Given the description of an element on the screen output the (x, y) to click on. 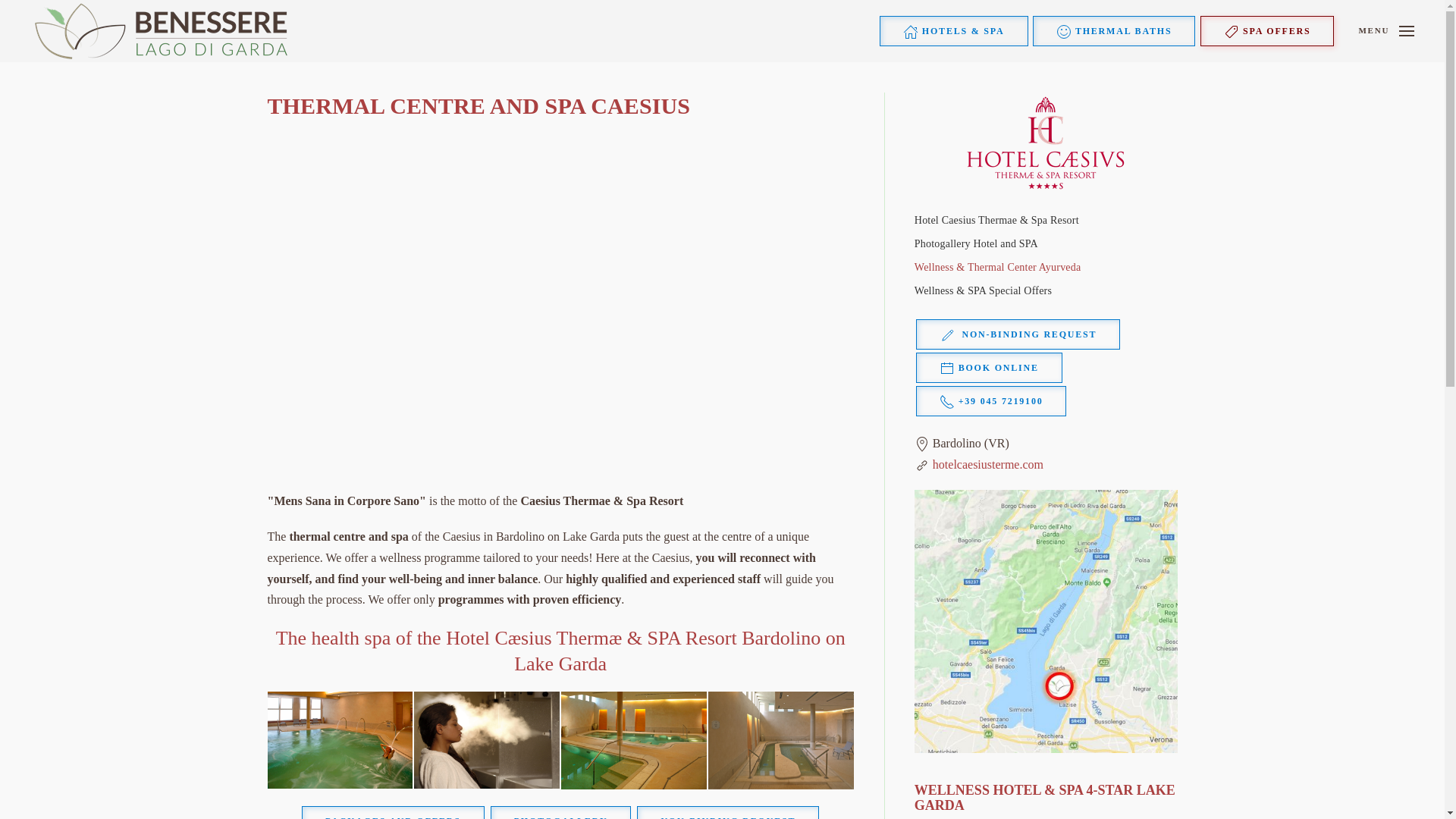
PHOTOGALLERY (560, 812)
 SPA OFFERS (1266, 30)
 THERMAL BATHS (1113, 30)
PACKAGES AND OFFERS (392, 812)
Thermal baths Lake Garda (1113, 30)
